Given the description of an element on the screen output the (x, y) to click on. 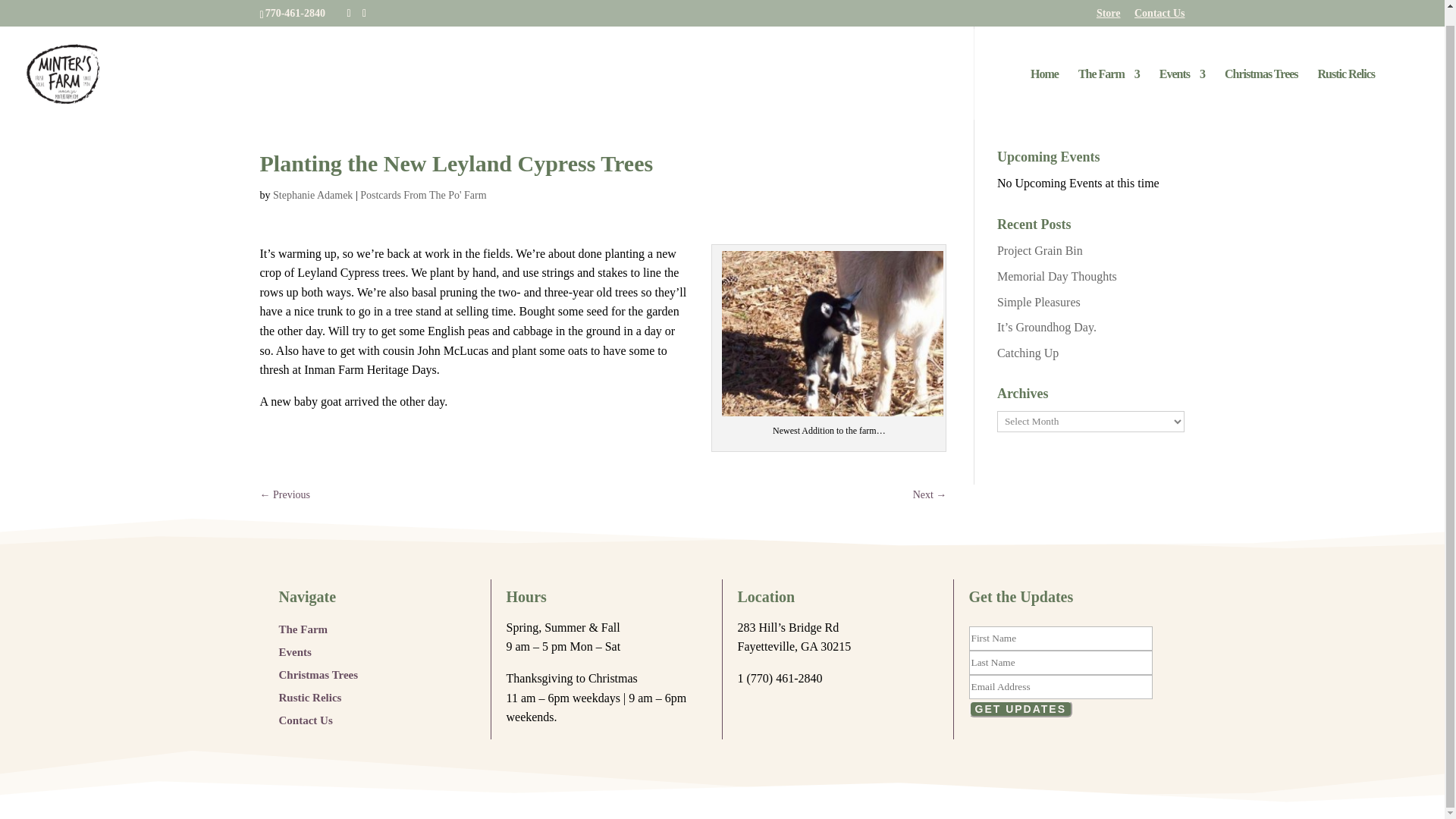
Stephanie Adamek (312, 194)
Events (1181, 79)
Trees (1261, 79)
Christmas Trees (318, 671)
Project Grain Bin (1040, 250)
Store (1108, 5)
Christmas Trees (1261, 79)
Memorial Day Thoughts (1056, 276)
Simple Pleasures (1038, 301)
Rustic Relics (1345, 79)
Posts by Stephanie Adamek (312, 194)
Store (1108, 5)
Postcards From The Po' Farm (422, 194)
Contact Us (1159, 5)
Contact Us (306, 717)
